Given the description of an element on the screen output the (x, y) to click on. 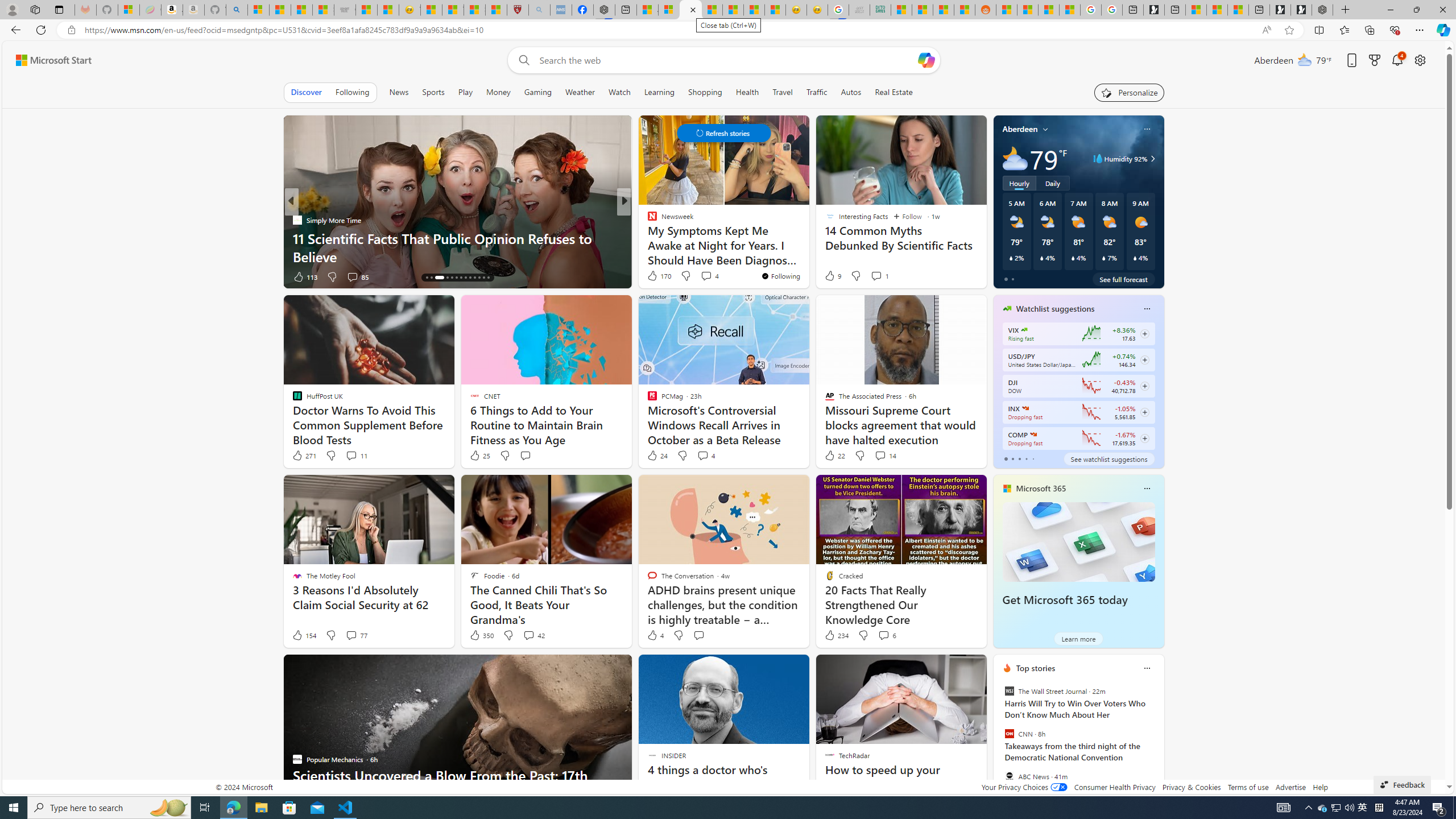
Stacker (647, 219)
Shopping (705, 92)
Simply More Time (296, 219)
AutomationID: tab-17 (446, 277)
View comments 34 Comment (703, 276)
9 Like (831, 275)
236 Like (654, 276)
Gaming (537, 92)
